Given the description of an element on the screen output the (x, y) to click on. 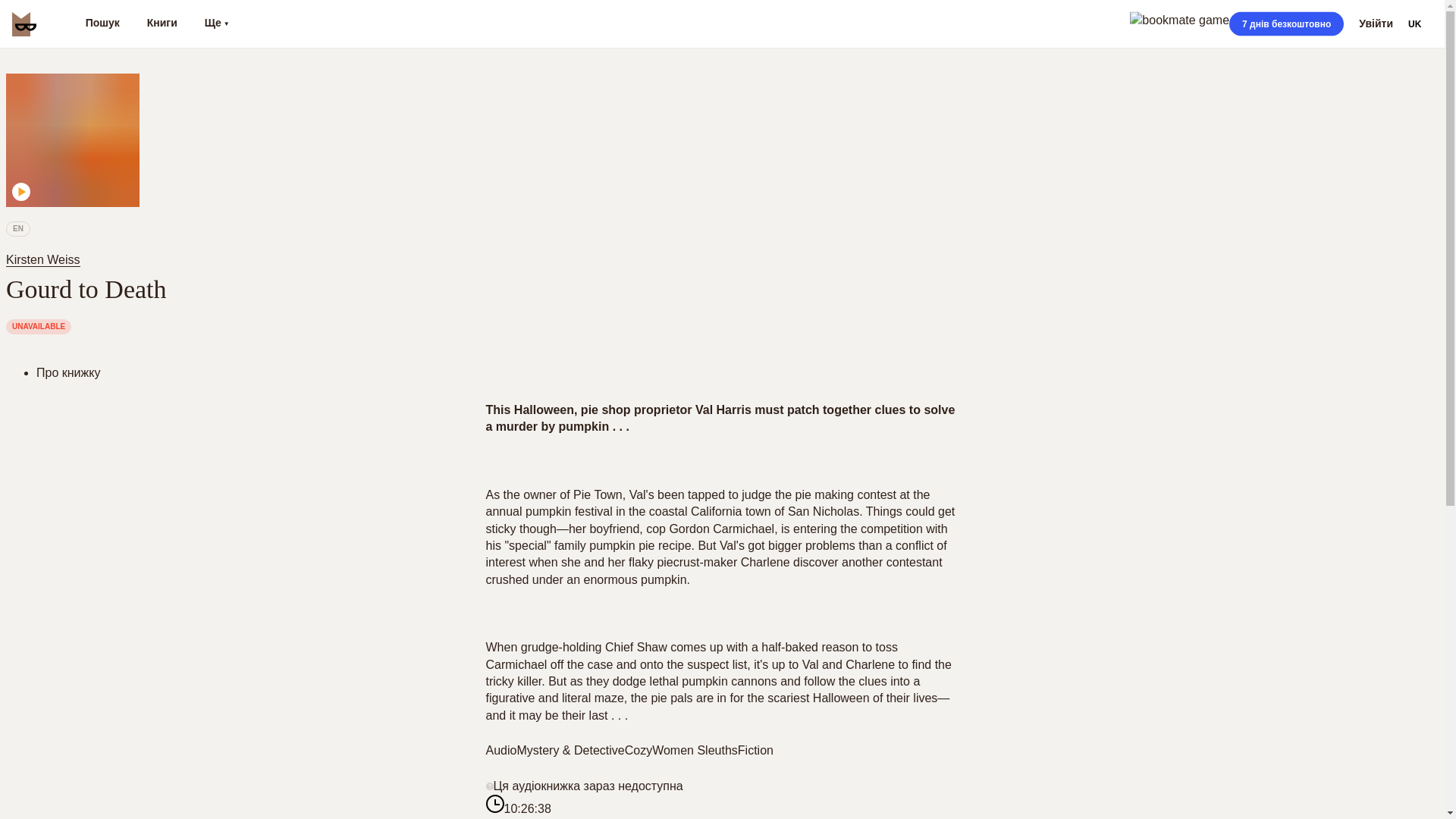
Women Sleuths (695, 749)
Kirsten Weiss (45, 259)
Fiction (755, 749)
Cozy (638, 749)
Audio (500, 749)
Kirsten Weiss (42, 259)
